Given the description of an element on the screen output the (x, y) to click on. 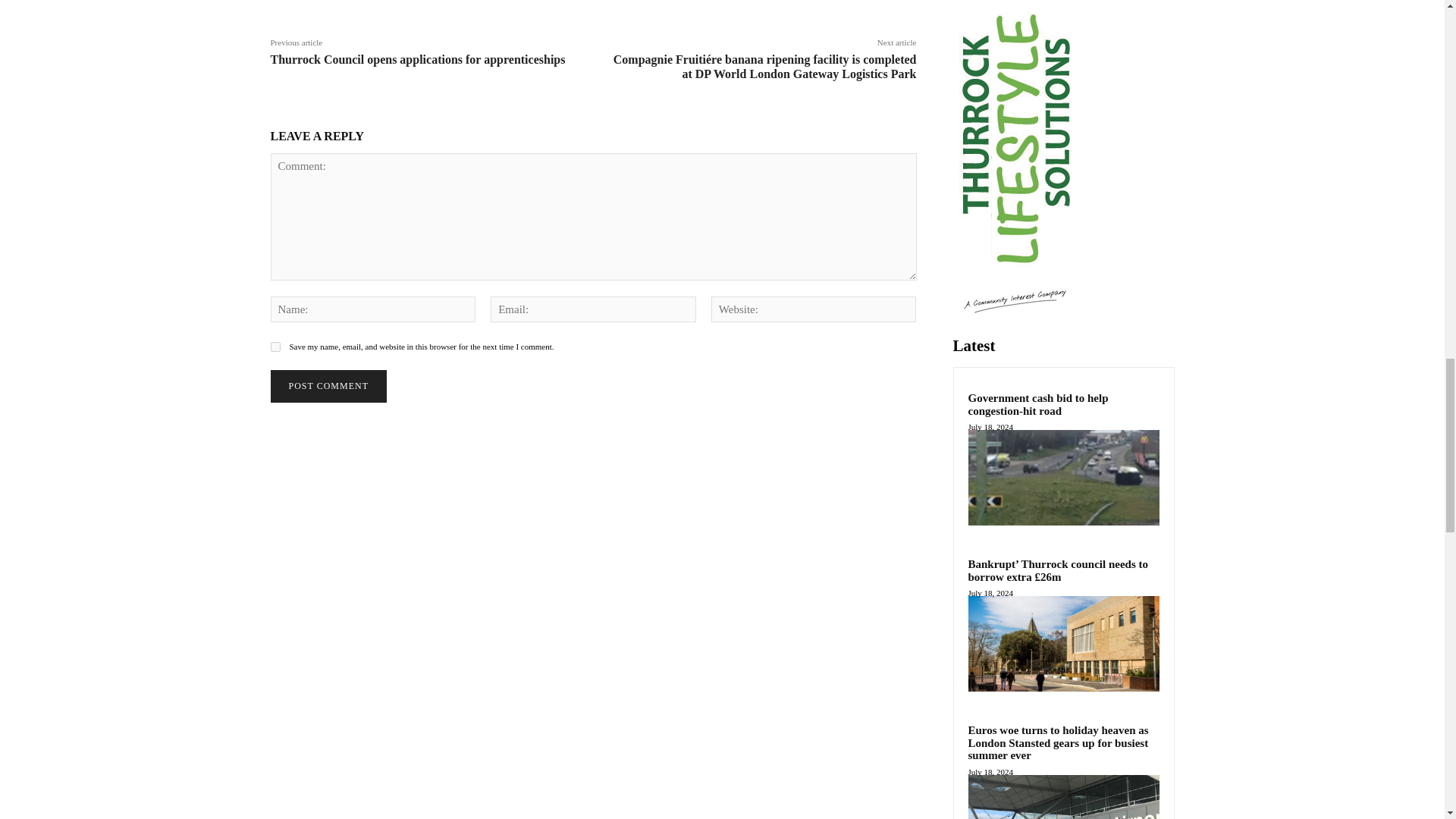
Post Comment (327, 386)
yes (274, 347)
